Given the description of an element on the screen output the (x, y) to click on. 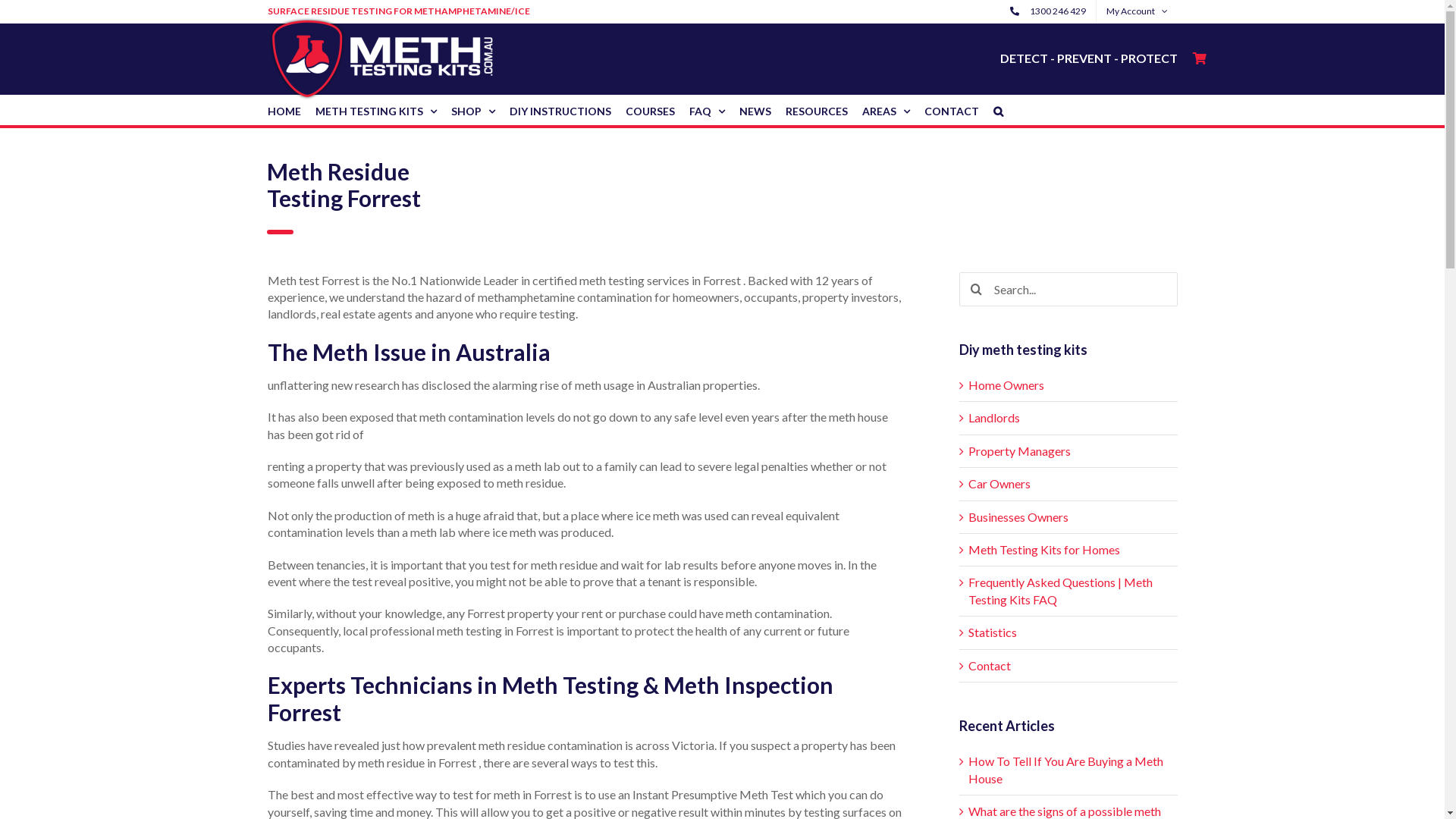
1300 246 429 Element type: text (1047, 11)
Home Owners Element type: text (1005, 384)
AREAS Element type: text (885, 109)
CONTACT Element type: text (950, 109)
Search Element type: hover (998, 109)
Car Owners Element type: text (998, 483)
Property Managers Element type: text (1018, 450)
My Account Element type: text (1136, 11)
Statistics Element type: text (991, 631)
SHOP Element type: text (472, 109)
NEWS Element type: text (754, 109)
METH TESTING KITS Element type: text (375, 109)
FAQ Element type: text (706, 109)
Businesses Owners Element type: text (1017, 516)
DIY INSTRUCTIONS Element type: text (560, 109)
RESOURCES Element type: text (816, 109)
Contact Element type: text (988, 665)
How To Tell If You Are Buying a Meth House Element type: text (1064, 768)
Landlords Element type: text (993, 417)
Frequently Asked Questions | Meth Testing Kits FAQ Element type: text (1059, 589)
Meth Testing Kits for Homes Element type: text (1043, 549)
HOME Element type: text (283, 109)
Log In Element type: text (1203, 158)
COURSES Element type: text (649, 109)
